Given the description of an element on the screen output the (x, y) to click on. 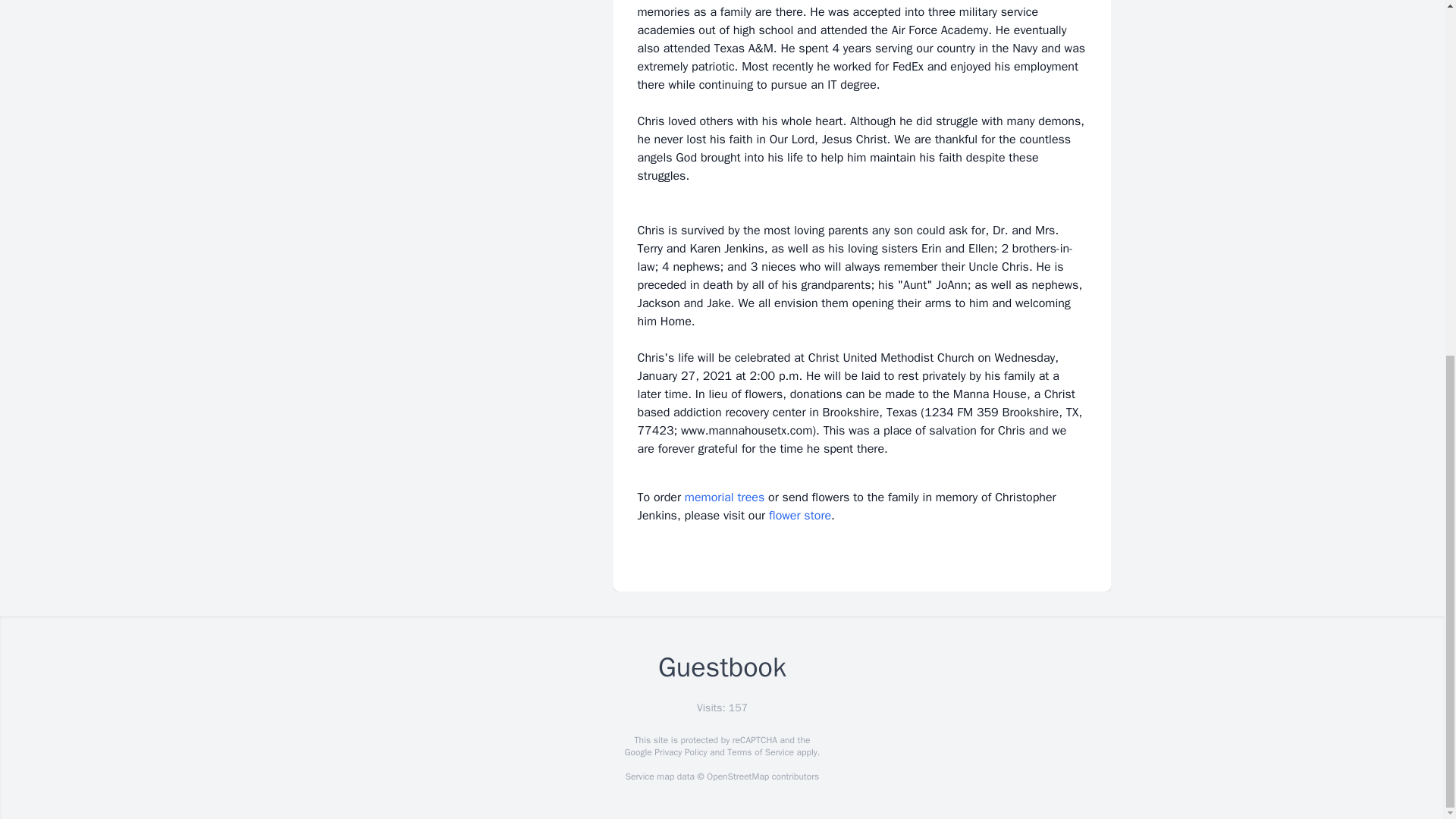
Privacy Policy (679, 752)
flower store (799, 515)
OpenStreetMap (737, 776)
memorial trees (724, 497)
Terms of Service (759, 752)
